Given the description of an element on the screen output the (x, y) to click on. 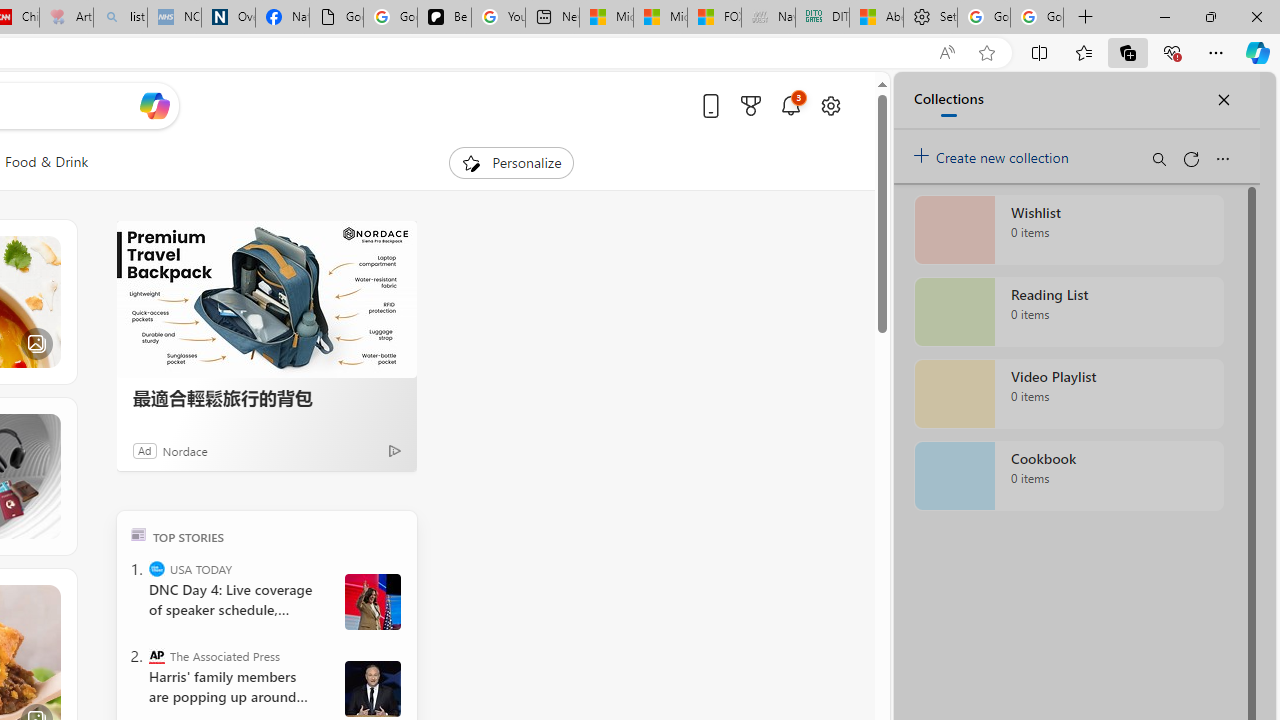
Arthritis: Ask Health Professionals - Sleeping (66, 17)
TOP (138, 534)
The Associated Press (156, 655)
